Given the description of an element on the screen output the (x, y) to click on. 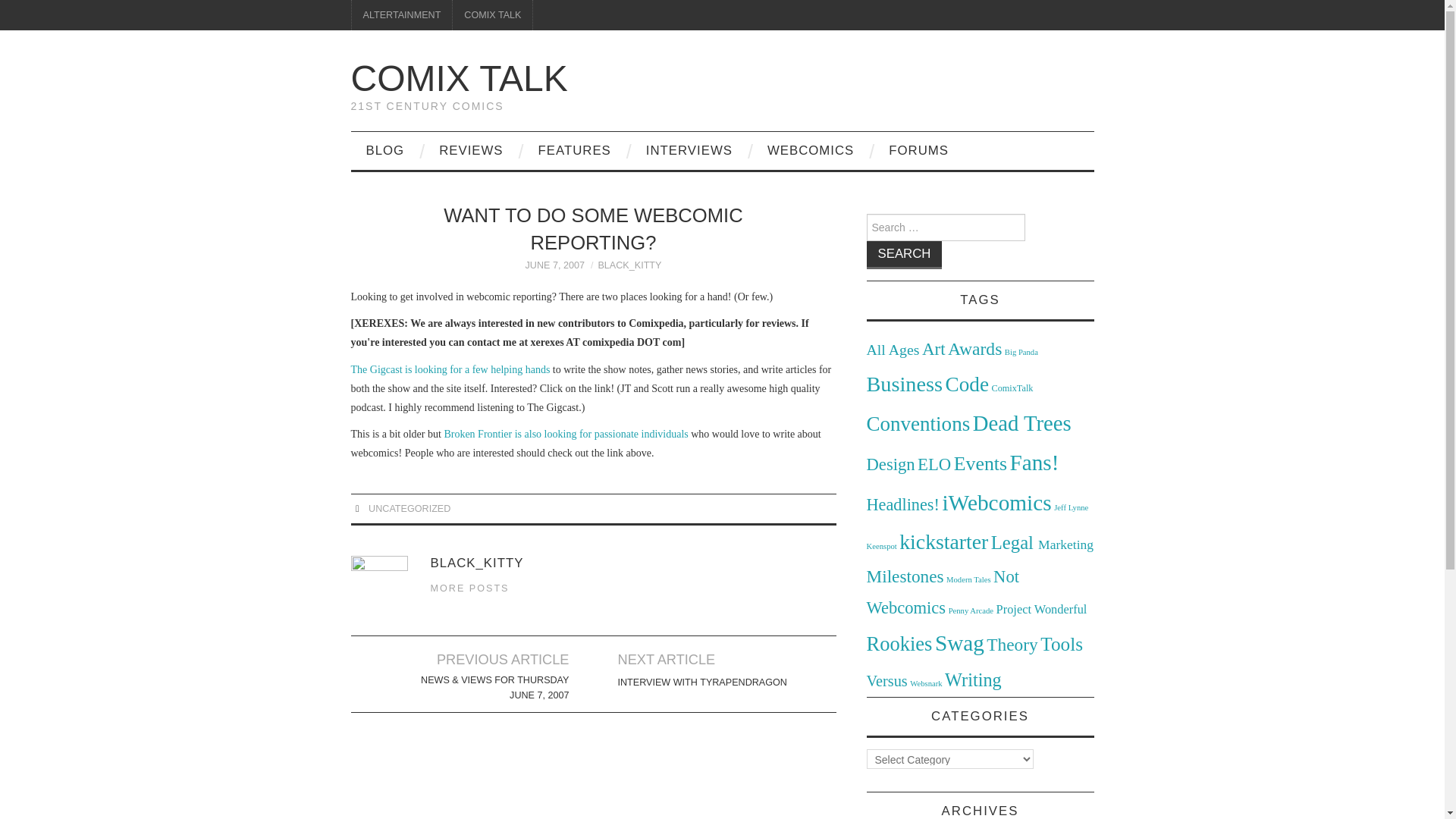
The Gigcast is looking for a few helping hands (450, 369)
Fans! (1034, 462)
Search (904, 254)
Search (904, 254)
Comix Talk (458, 78)
INTERVIEWS (689, 150)
FORUMS (918, 150)
Dead Trees (1021, 422)
Search (904, 254)
INTERVIEW WITH TYRAPENDRAGON (701, 682)
Keenspot (881, 546)
Conventions (917, 423)
Events (980, 463)
Awards (974, 348)
Marketing (1065, 544)
